Given the description of an element on the screen output the (x, y) to click on. 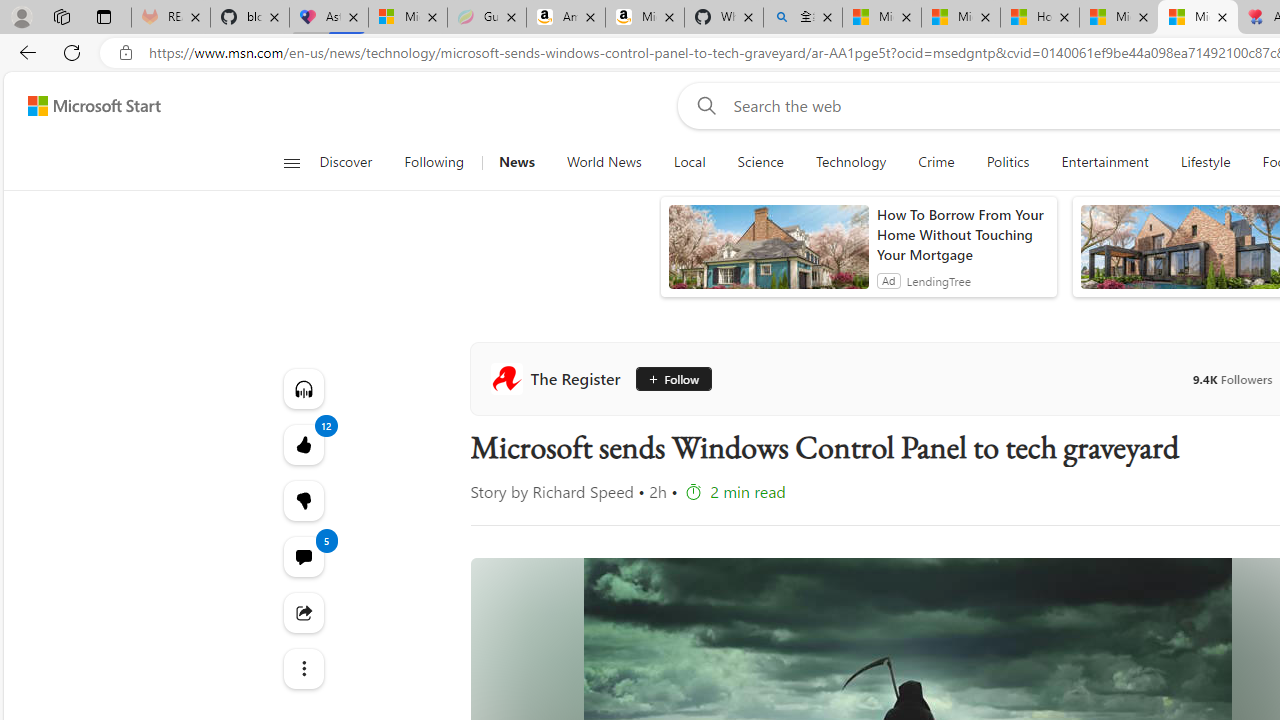
Local (689, 162)
Crime (935, 162)
Science (760, 162)
Skip to footer (82, 105)
Class: button-glyph (290, 162)
Politics (1007, 162)
LendingTree (938, 280)
Asthma Inhalers: Names and Types (329, 17)
World News (603, 162)
